Given the description of an element on the screen output the (x, y) to click on. 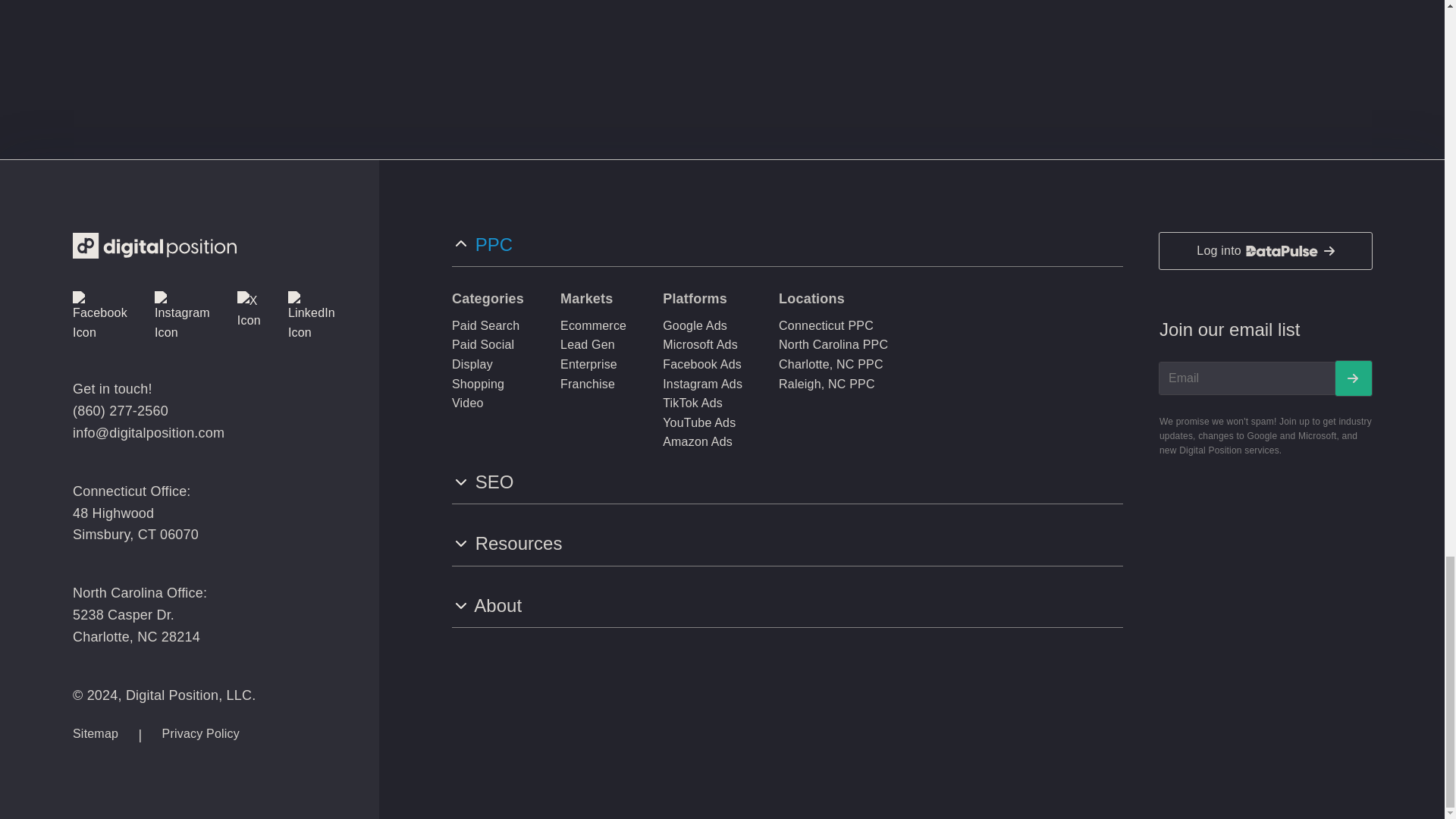
Digital Position Logo (153, 245)
